Given the description of an element on the screen output the (x, y) to click on. 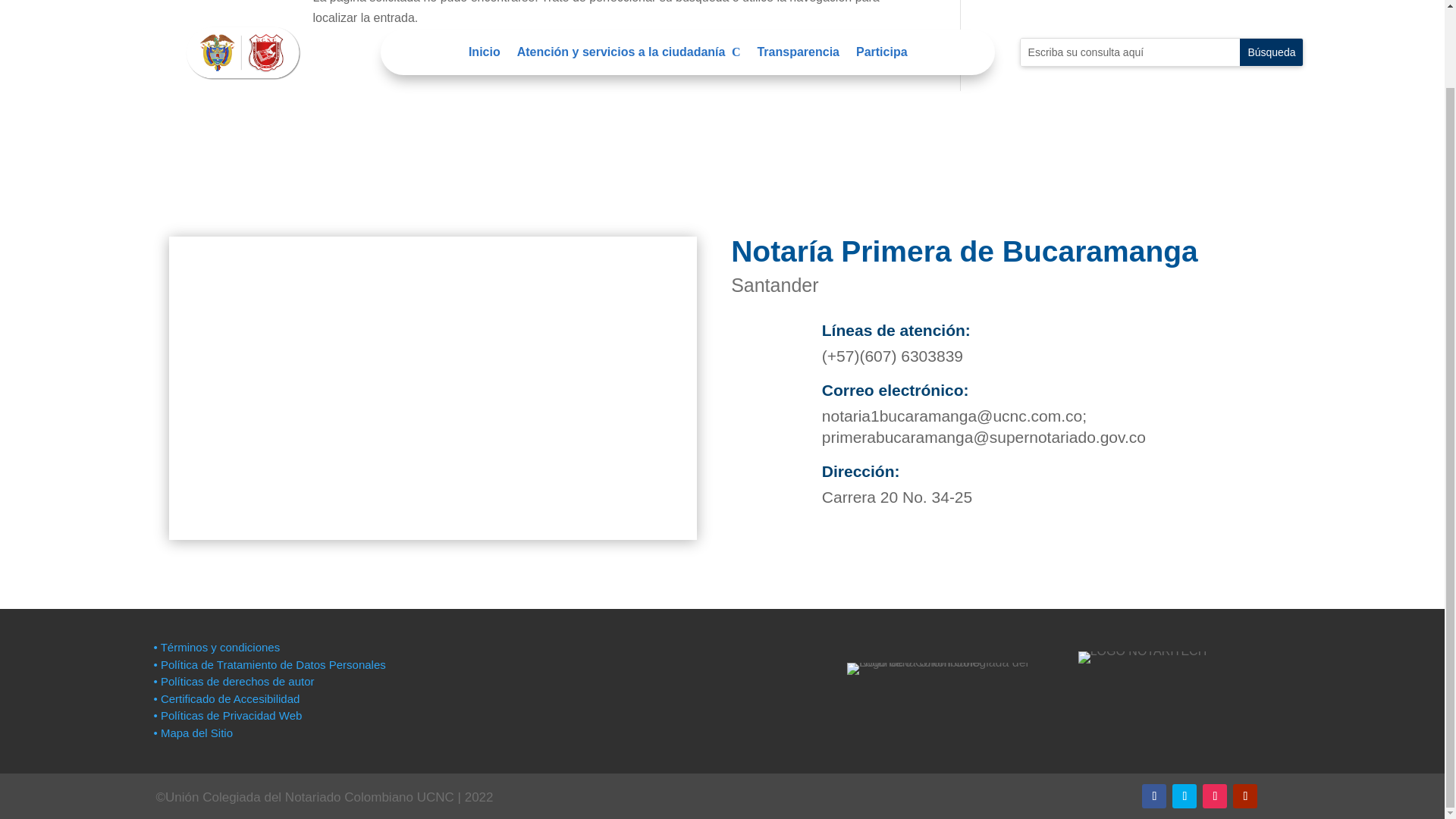
Certificado de Accesibilidad (225, 698)
Seguir en Twitter (1184, 795)
Seguir en Instagram (1214, 795)
Mapa del Sitio (193, 732)
Seguir en Youtube (1245, 795)
Seguir en Facebook (1153, 795)
